Given the description of an element on the screen output the (x, y) to click on. 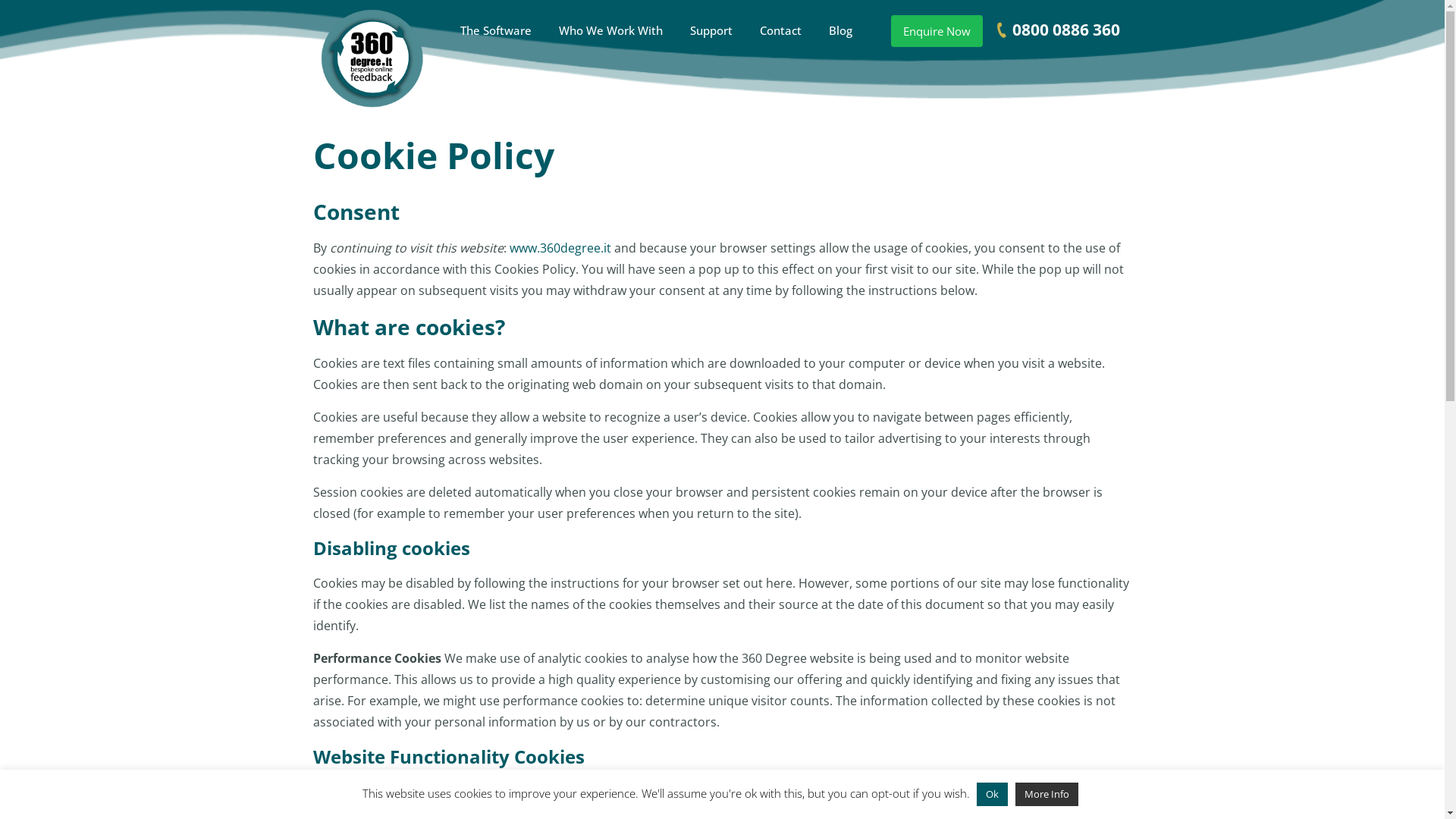
0800 0886 360 Element type: text (1053, 29)
Enquire Now Element type: text (936, 31)
The Software Element type: text (495, 30)
More Info Element type: text (1046, 794)
Support Element type: text (711, 30)
www.360degree.it Element type: text (560, 247)
Blog Element type: text (840, 30)
Who We Work With Element type: text (610, 30)
Contact Element type: text (780, 30)
360 Degree IT Element type: hover (371, 56)
Ok Element type: text (991, 794)
